Given the description of an element on the screen output the (x, y) to click on. 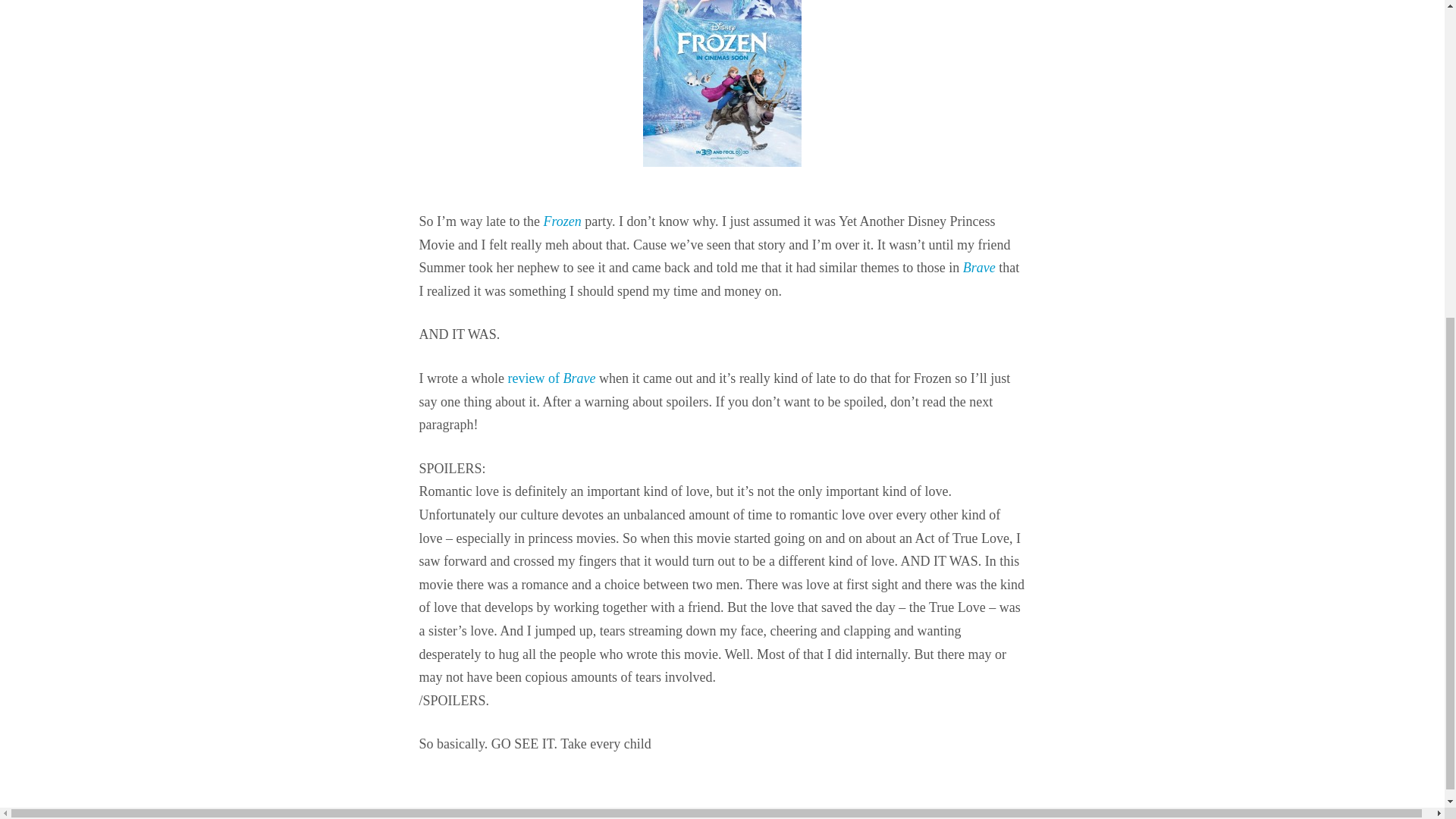
review of Brave (550, 378)
Frozen (561, 221)
Brave (978, 267)
